Given the description of an element on the screen output the (x, y) to click on. 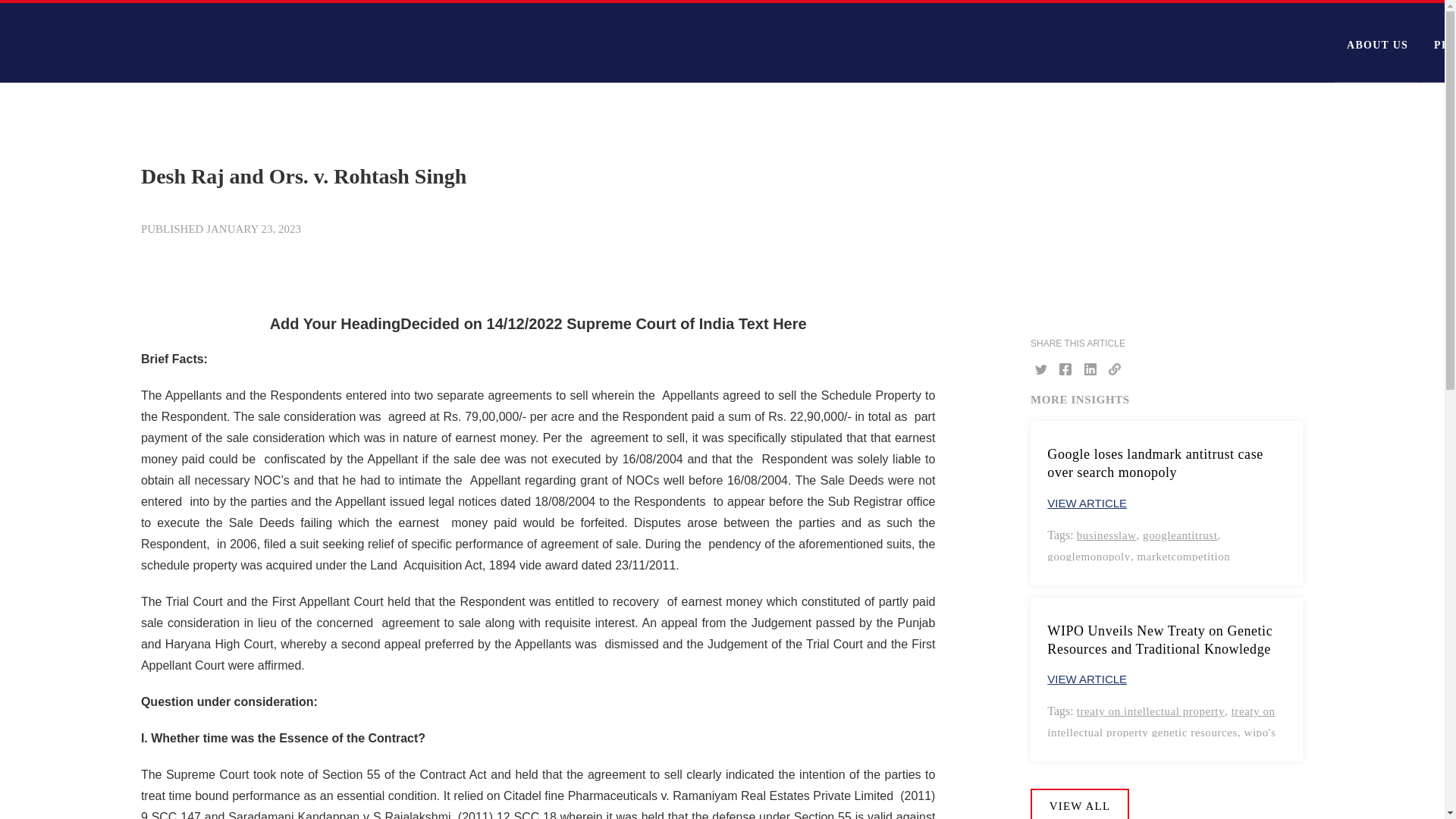
VIEW ARTICLE (1086, 678)
Google loses landmark antitrust case over search monopoly (1165, 463)
VIEW ALL (1079, 803)
ABOUT US (1376, 42)
VIEW ARTICLE (1086, 502)
PUBLISHED JANUARY 23, 2023 (221, 229)
